Given the description of an element on the screen output the (x, y) to click on. 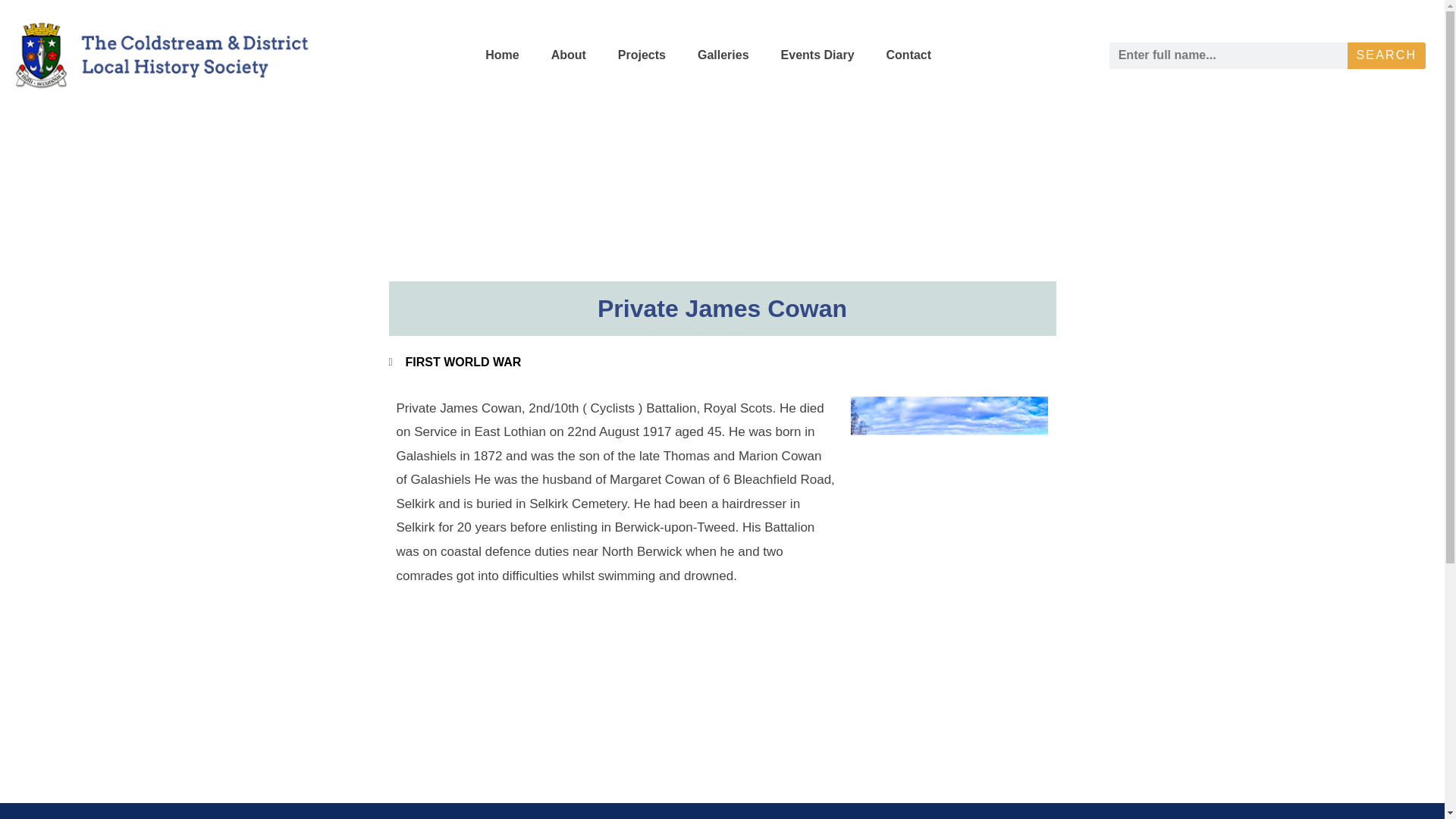
Contact (908, 54)
Home (502, 54)
Events Diary (817, 54)
SEARCH (1386, 55)
Galleries (723, 54)
Projects (641, 54)
About (568, 54)
